Given the description of an element on the screen output the (x, y) to click on. 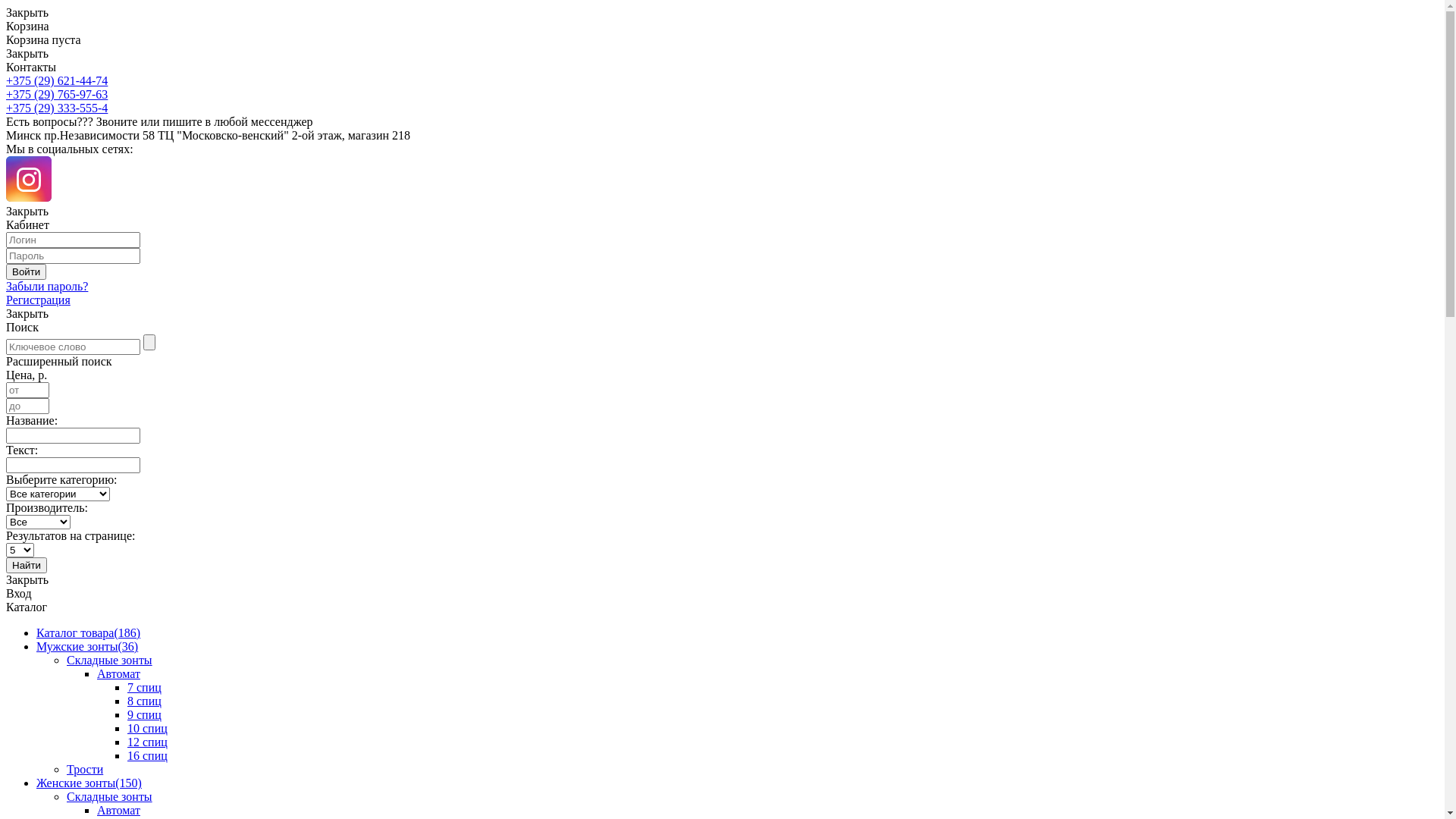
+375 (29) 621-44-74 Element type: text (56, 80)
+375 (29) 765-97-63 Element type: text (56, 93)
+375 (29) 333-555-4 Element type: text (56, 107)
